Given the description of an element on the screen output the (x, y) to click on. 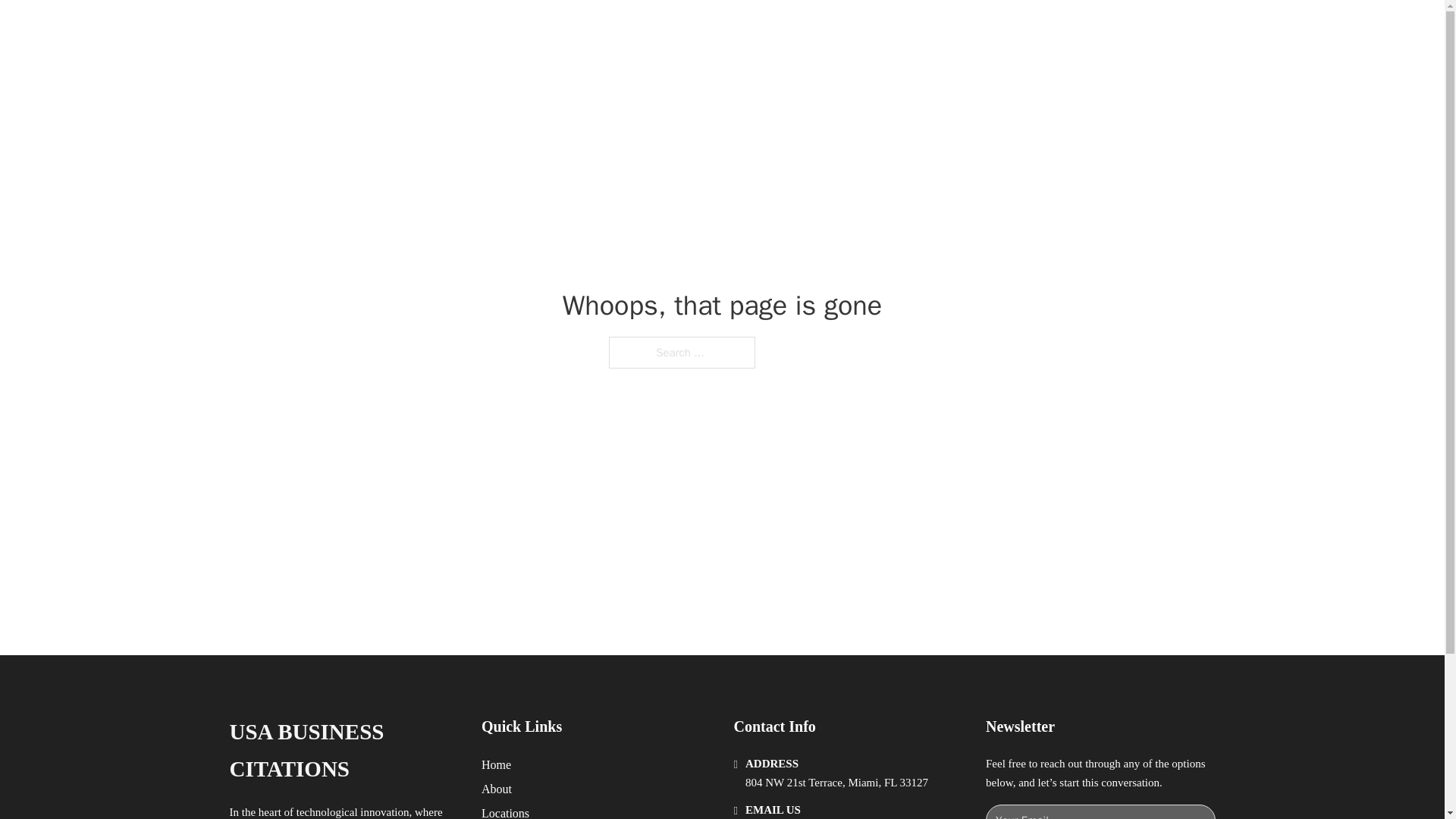
USA BUSINESS CITATIONS (343, 750)
About (496, 788)
Locations (505, 811)
LOCATIONS (990, 29)
USA BUSINESS CITATIONS (439, 28)
HOME (919, 29)
Home (496, 764)
